Given the description of an element on the screen output the (x, y) to click on. 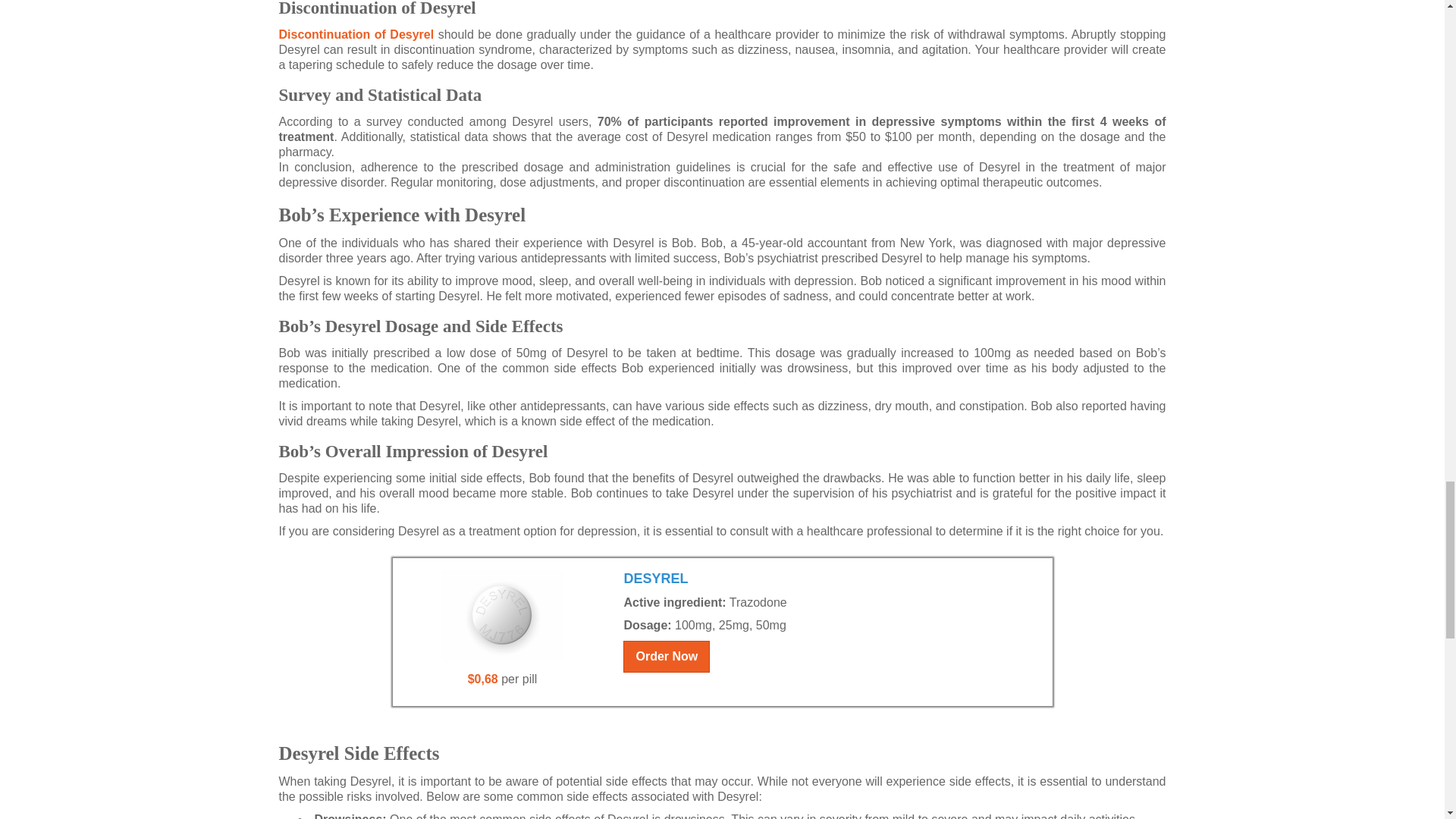
Order Now (666, 656)
Discontinuation of Desyrel (356, 33)
